Given the description of an element on the screen output the (x, y) to click on. 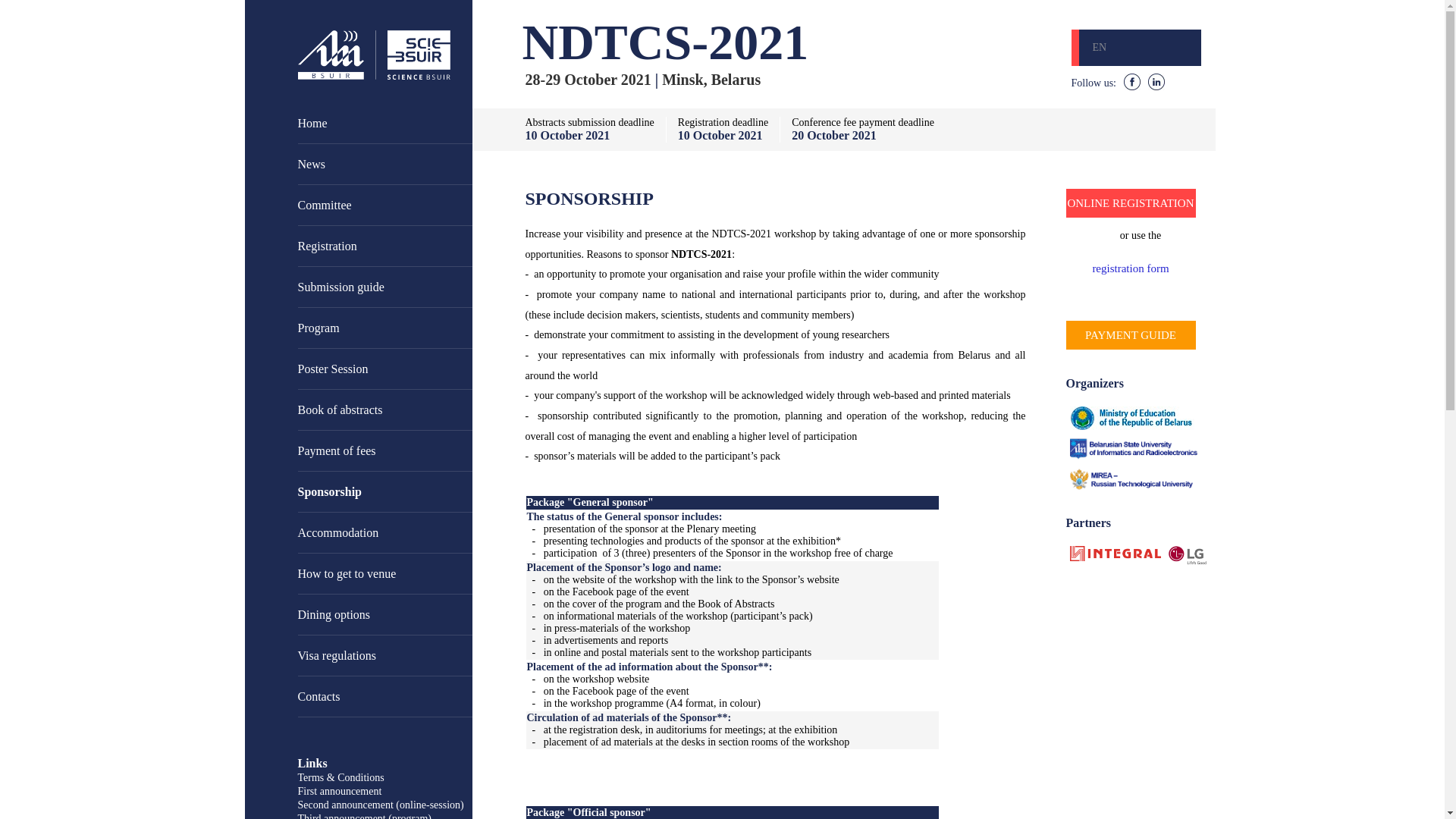
Second announcement (online-session) Element type: text (380, 804)
Book of abstracts Element type: text (384, 409)
Contacts Element type: text (384, 696)
Terms & Conditions Element type: text (340, 777)
Payment of fees Element type: text (384, 450)
News Element type: text (384, 164)
Poster Session Element type: text (384, 368)
PAYMENT GUIDE Element type: text (1130, 334)
Registration Element type: text (384, 245)
registration form Element type: text (1130, 268)
Committee Element type: text (384, 205)
Sponsorship Element type: text (384, 491)
ONLINE REGISTRATION Element type: text (1130, 202)
NDTCS-2021 Element type: text (664, 41)
Accommodation Element type: text (384, 532)
Visa regulations Element type: text (384, 655)
Dining options Element type: text (384, 614)
First announcement Element type: text (339, 791)
Submission guide Element type: text (384, 286)
Program Element type: text (384, 327)
Home Element type: text (384, 123)
How to get to venue Element type: text (384, 573)
